Given the description of an element on the screen output the (x, y) to click on. 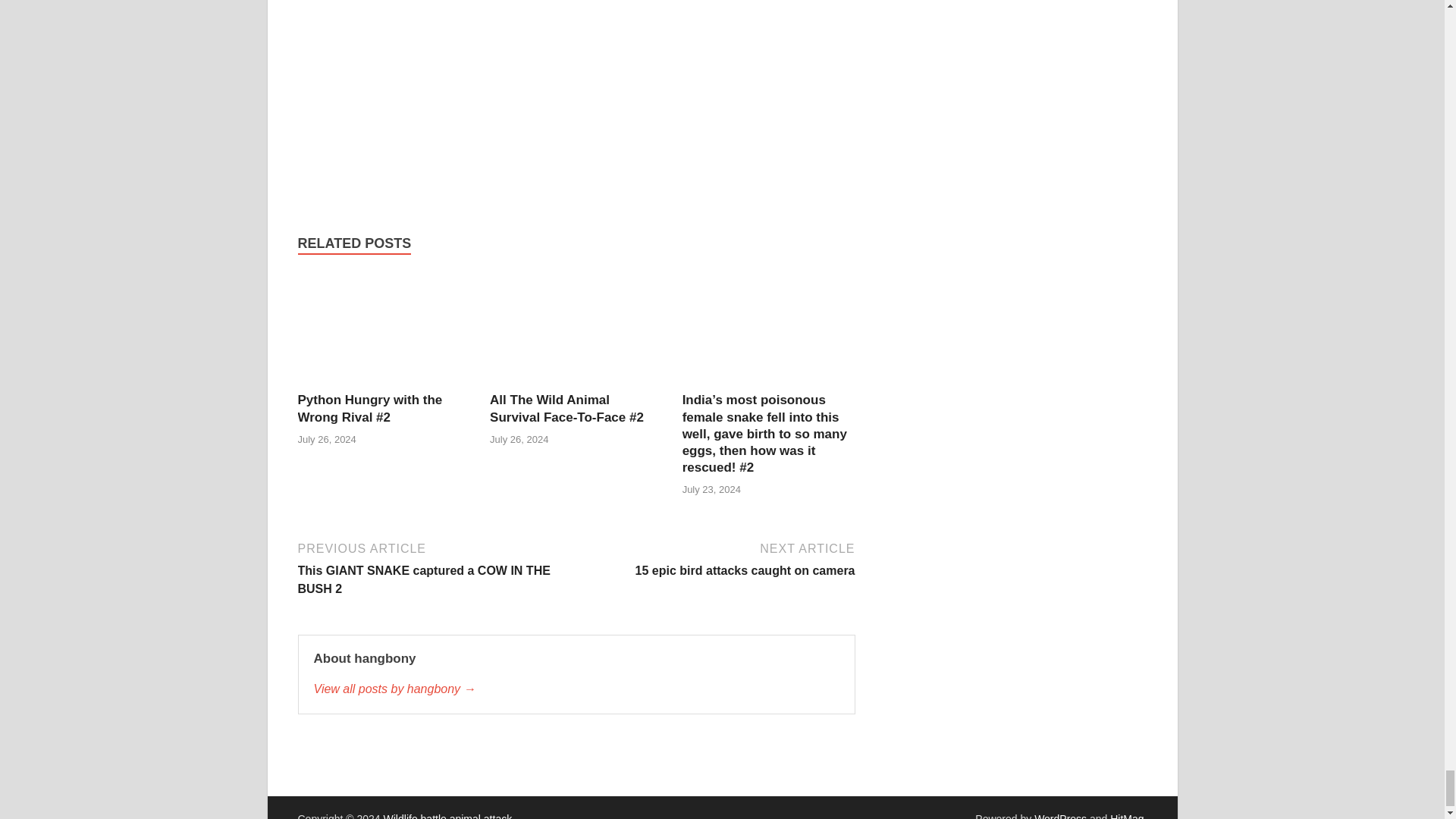
hangbony (717, 558)
YouTube video player (577, 689)
